Given the description of an element on the screen output the (x, y) to click on. 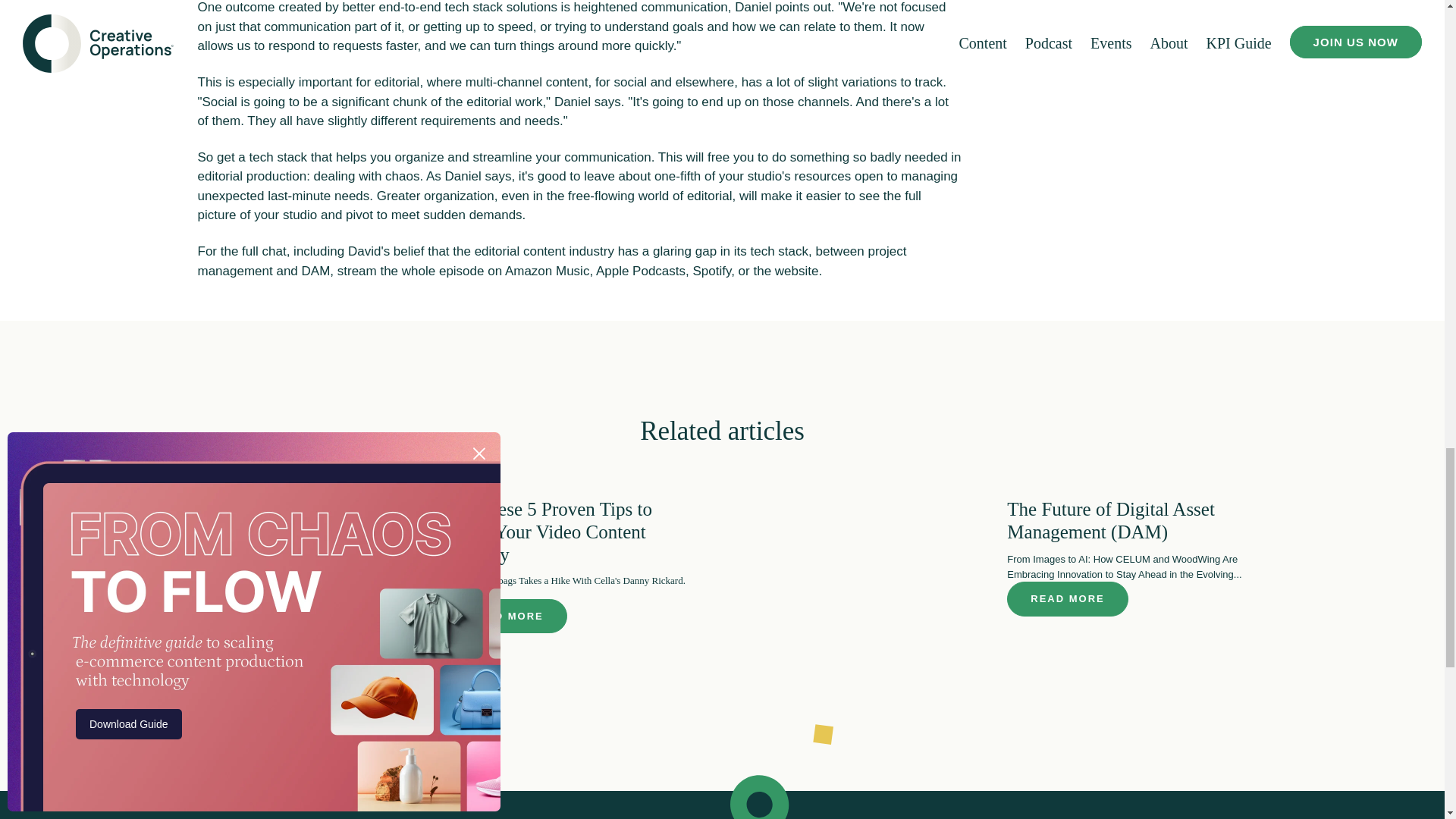
Try These 5 Proven Tips to Boost Your Video Content Strategy (548, 531)
READ MORE (505, 615)
READ MORE (1066, 598)
